Given the description of an element on the screen output the (x, y) to click on. 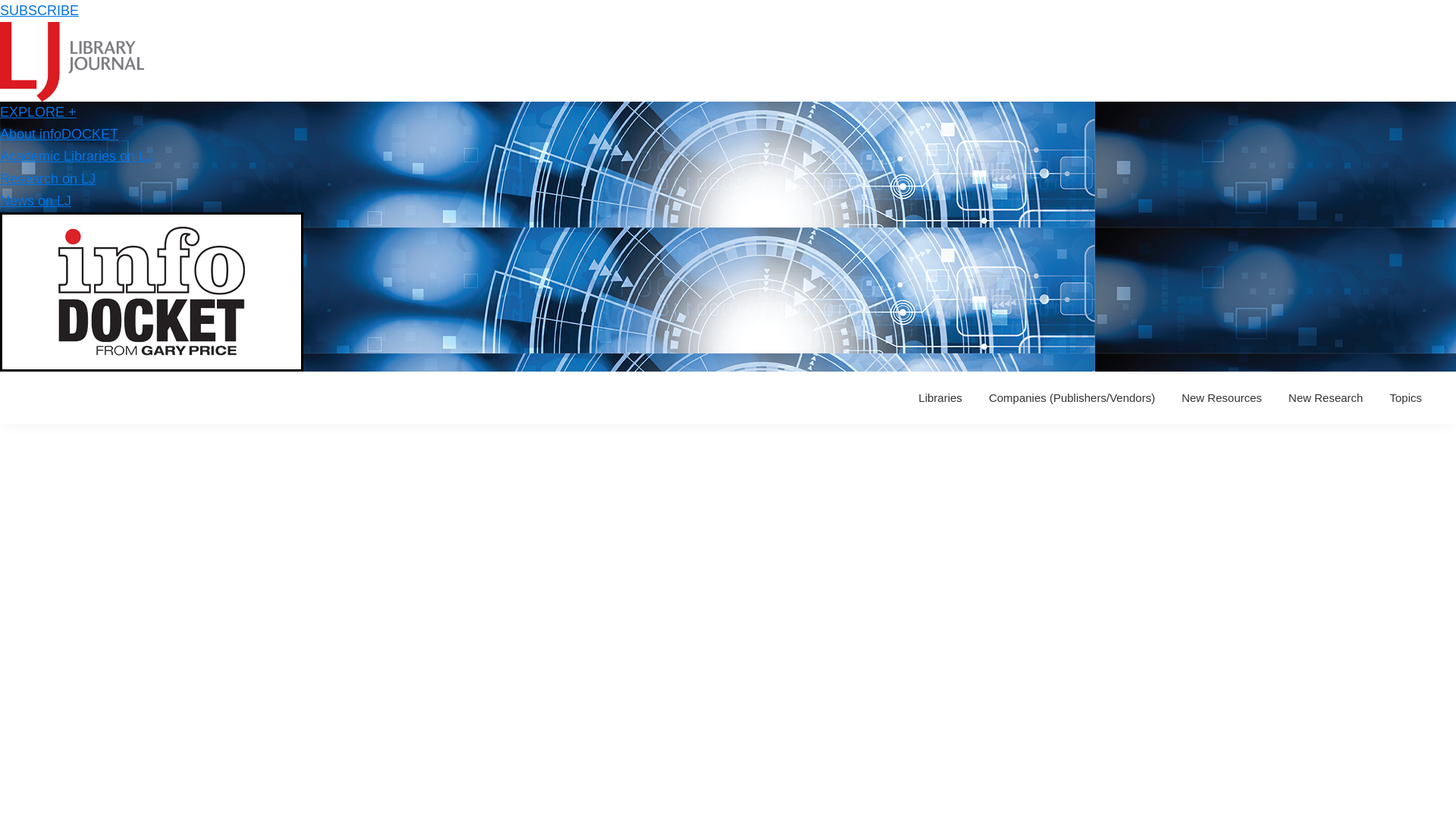
Libraries (940, 397)
Research on LJ (48, 178)
New Research (1325, 397)
News on LJ (35, 200)
SUBSCRIBE (39, 10)
About infoDOCKET (58, 133)
Academic Libraries on LJ (76, 155)
New Resources (1221, 397)
